Given the description of an element on the screen output the (x, y) to click on. 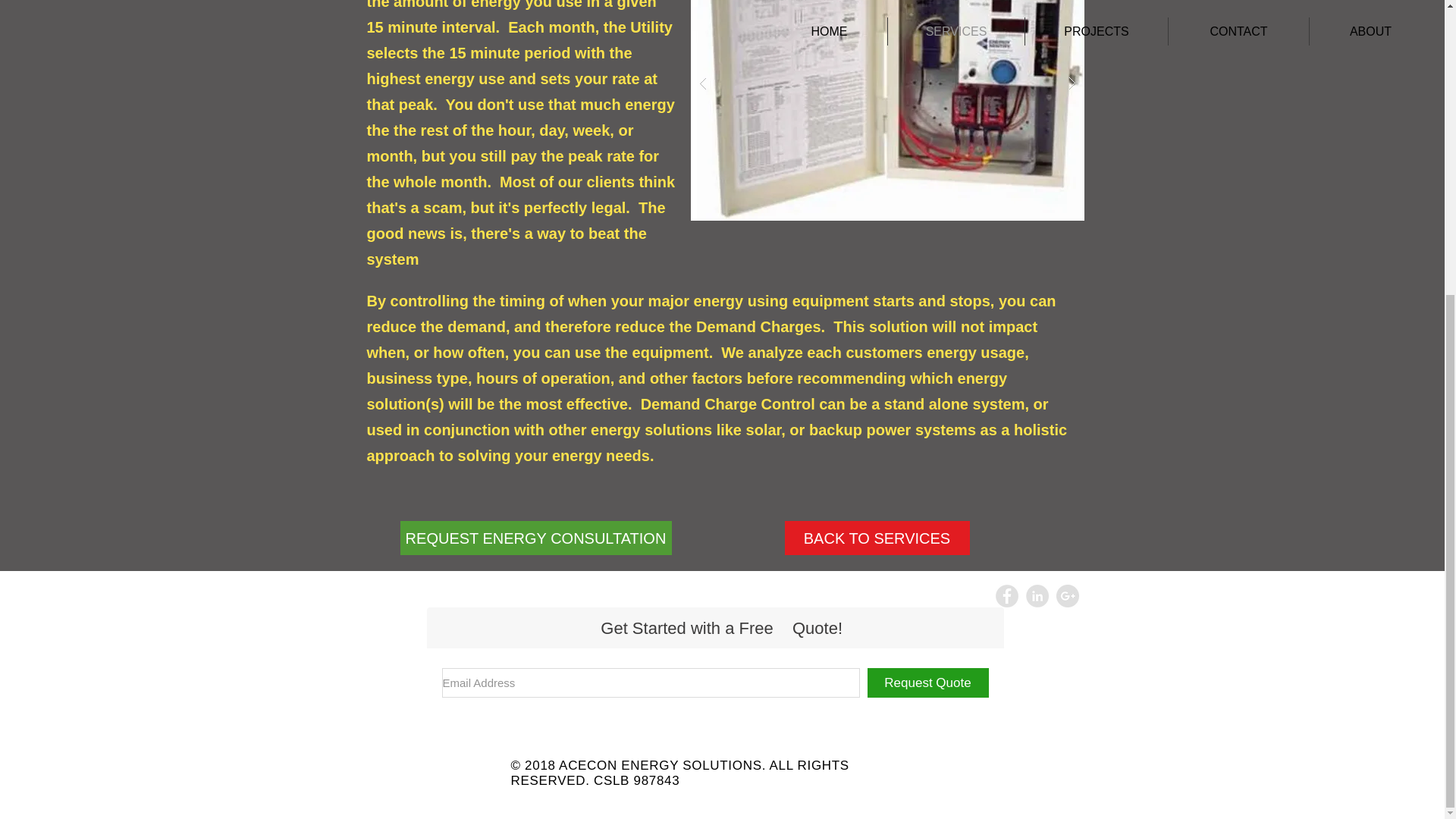
Request Quote (927, 682)
BACK TO SERVICES (876, 537)
REQUEST ENERGY CONSULTATION (535, 537)
